Given the description of an element on the screen output the (x, y) to click on. 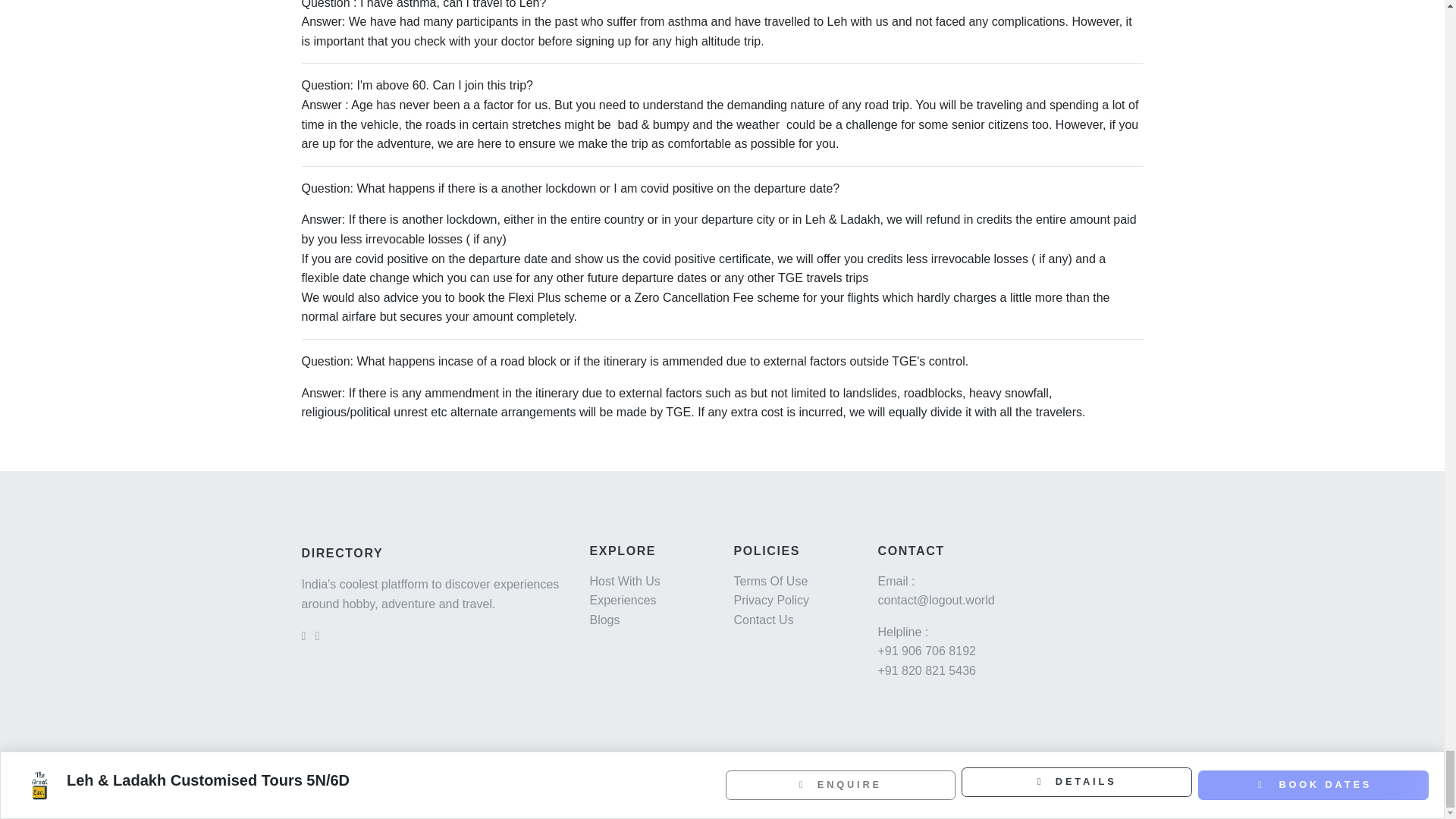
Contact Us (763, 619)
Blogs (604, 619)
Experiences (622, 599)
Host With Us (624, 581)
Terms Of Use (770, 581)
Privacy Policy (771, 599)
